Given the description of an element on the screen output the (x, y) to click on. 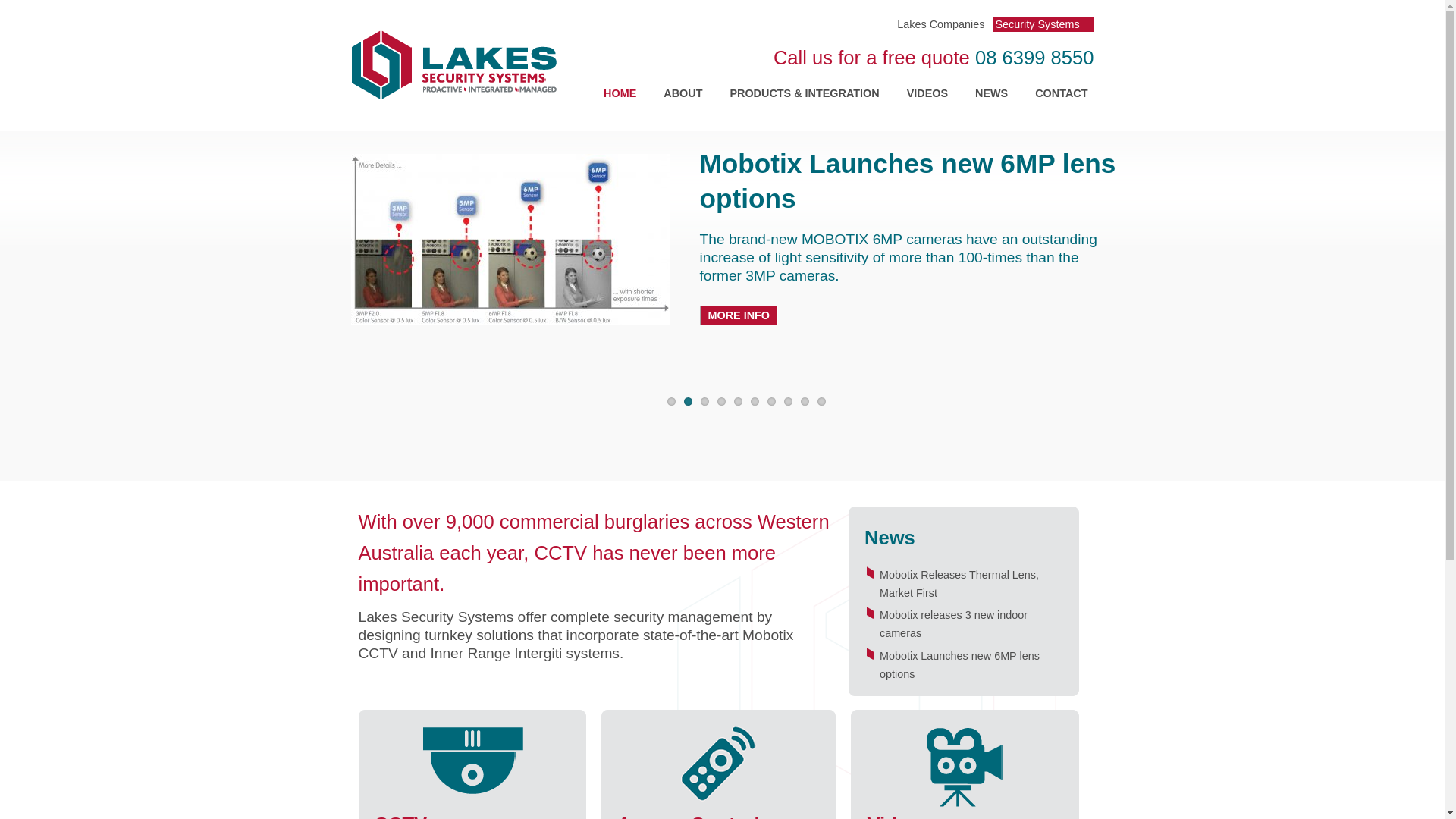
Mobotix releases 3 new indoor cameras Element type: text (953, 623)
Mobotix Releases Thermal Lens, Market First Element type: text (958, 583)
5 Element type: text (738, 401)
CONTACT Element type: text (1061, 93)
HOME Element type: text (619, 93)
10 Element type: text (821, 401)
Mobotix Launches new 6MP lens options Element type: text (959, 664)
MORE INFO Element type: text (738, 315)
NEWS Element type: text (991, 93)
Jump to navigation Element type: text (722, 2)
1 Element type: text (671, 401)
Home Element type: hover (454, 65)
4 Element type: text (721, 401)
8 Element type: text (788, 401)
9 Element type: text (804, 401)
7 Element type: text (771, 401)
VIDEOS Element type: text (926, 93)
6 Element type: text (754, 401)
ABOUT Element type: text (682, 93)
3 Element type: text (704, 401)
2 Element type: text (688, 401)
